Given the description of an element on the screen output the (x, y) to click on. 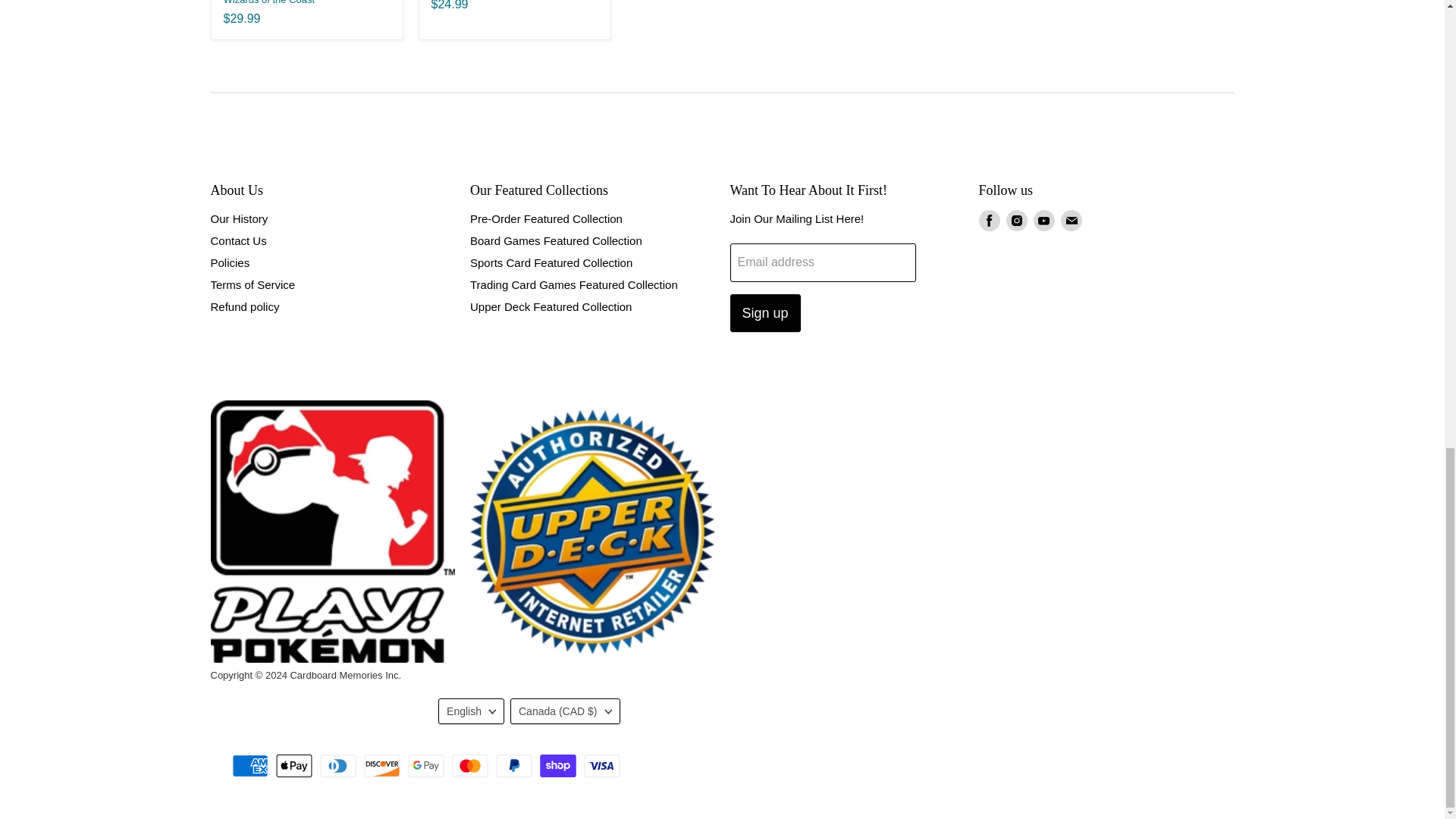
Email (1070, 219)
Facebook (988, 219)
Instagram (1016, 219)
Youtube (1043, 219)
Wizards of the Coast (268, 2)
